Given the description of an element on the screen output the (x, y) to click on. 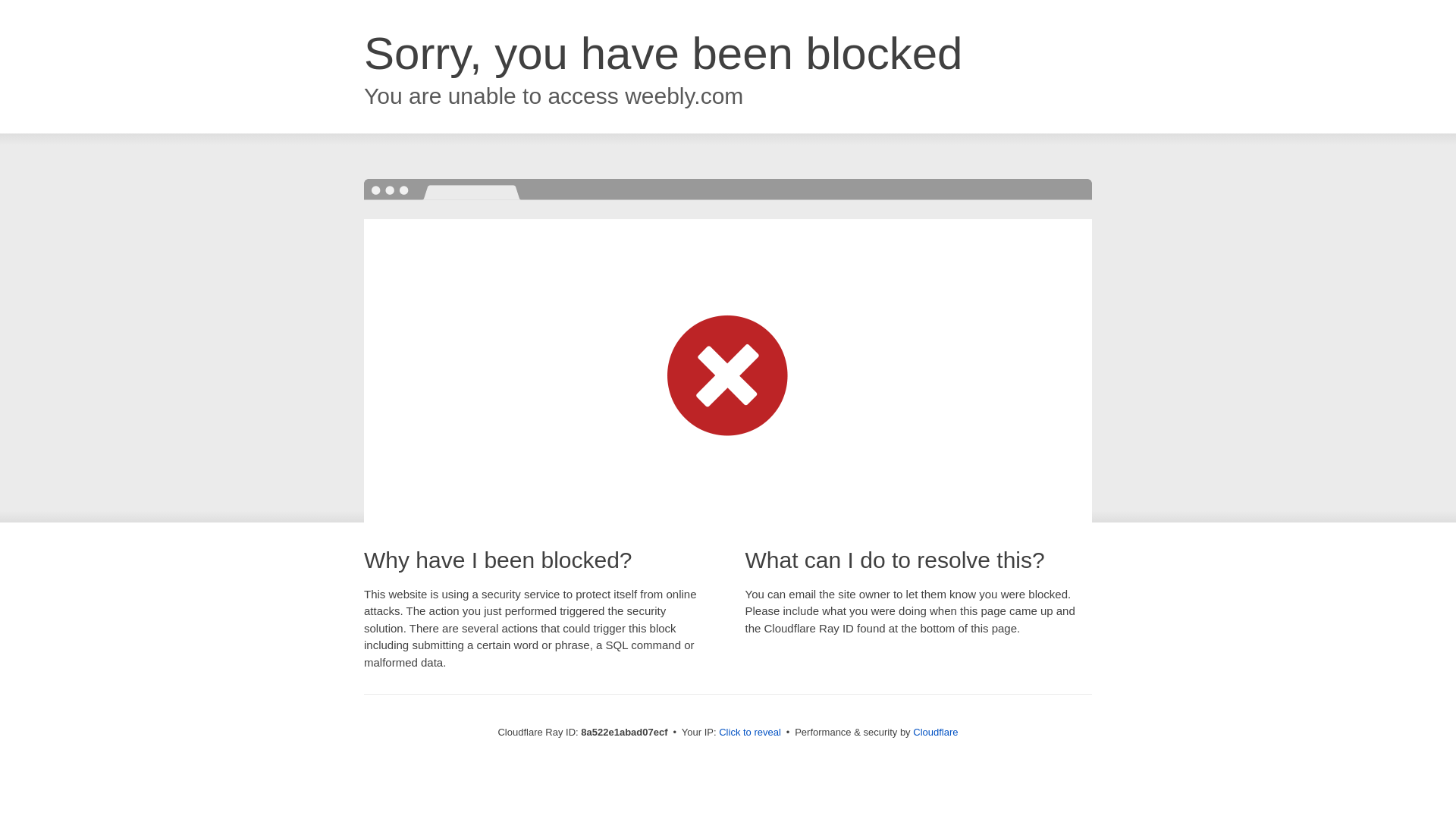
Click to reveal (749, 732)
Cloudflare (935, 731)
